Given the description of an element on the screen output the (x, y) to click on. 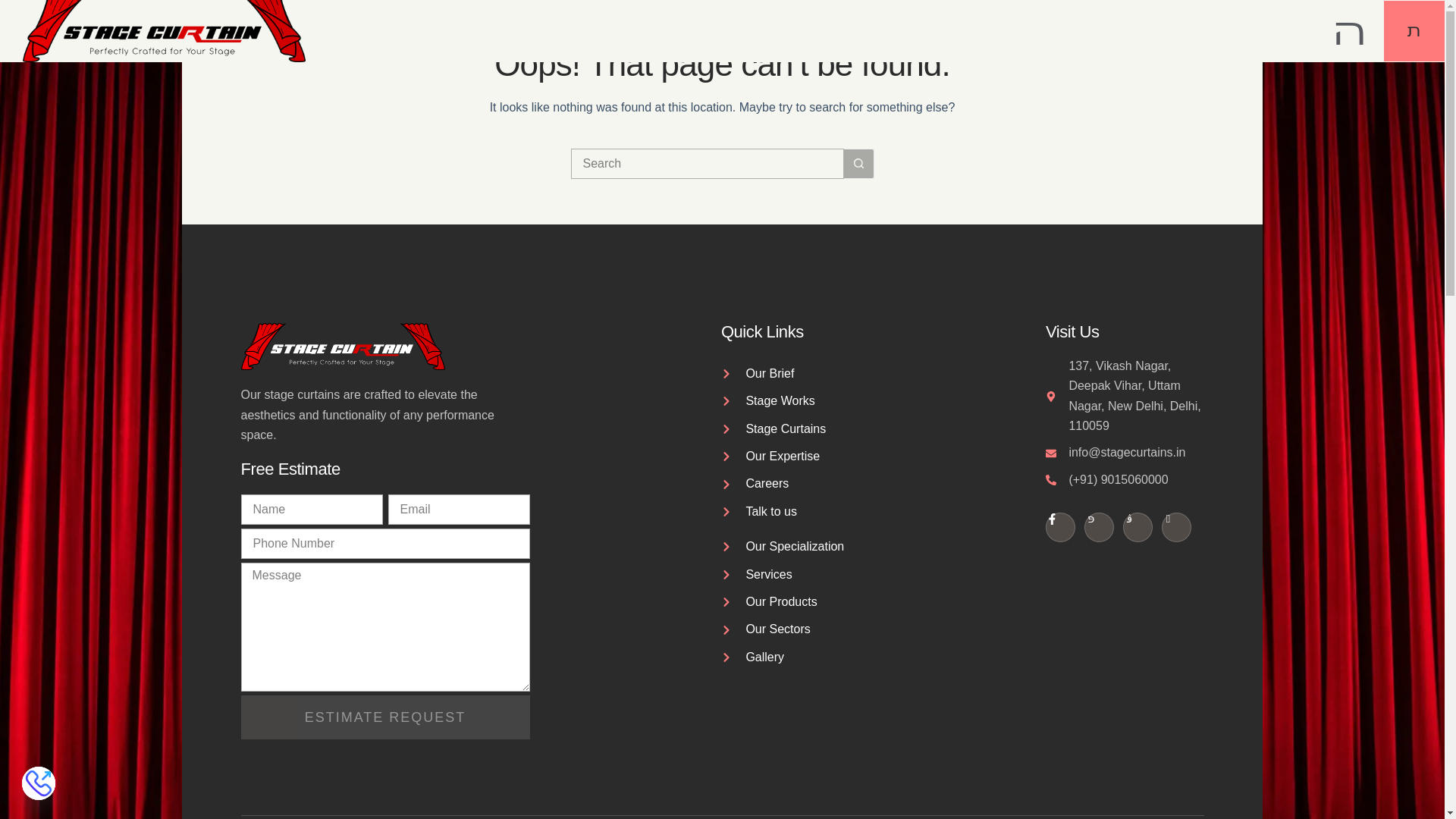
Our Brief (817, 373)
Careers (817, 483)
Our Products (817, 601)
Talk to us (817, 511)
Skip to content (15, 7)
Stage Works (817, 401)
Search for... (706, 163)
Our Specialization (817, 546)
ESTIMATE REQUEST (385, 717)
Our Expertise (817, 456)
Stage Curtains (817, 428)
Services (817, 574)
Gallery (817, 657)
Our Sectors (817, 629)
